Given the description of an element on the screen output the (x, y) to click on. 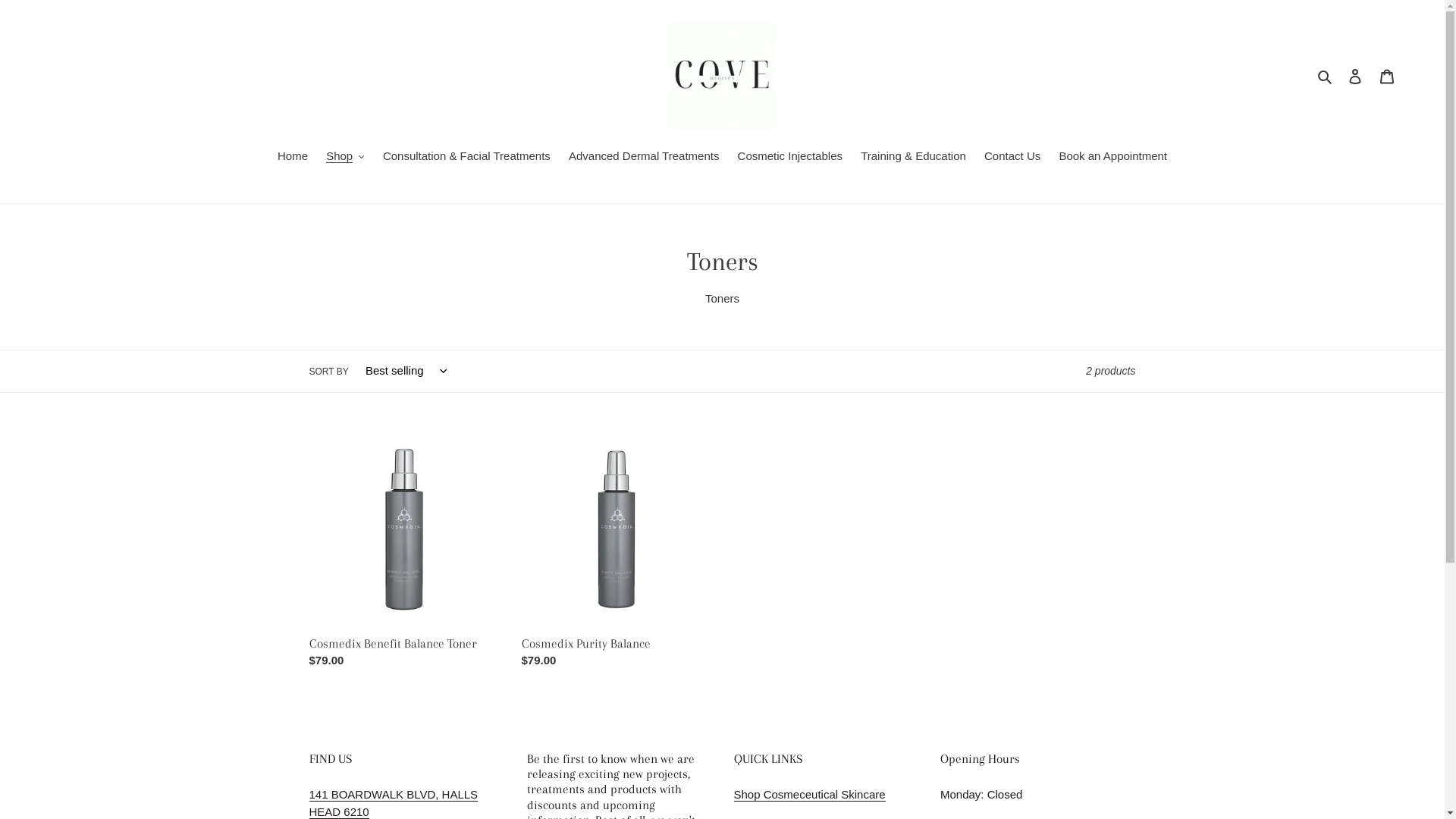
Training & Education Element type: text (913, 157)
Advanced Dermal Treatments Element type: text (643, 157)
Search Element type: text (1325, 75)
Cart Element type: text (1386, 75)
Cosmetic Injectables Element type: text (790, 157)
Home Element type: text (292, 157)
Shop Cosmeceutical Skincare Element type: text (809, 794)
Contact Us Element type: text (1012, 157)
Book an Appointment Element type: text (1112, 157)
Cosmedix Purity Balance Element type: text (616, 553)
Shop Element type: text (345, 157)
Cosmedix Benefit Balance Toner Element type: text (403, 553)
Log in Element type: text (1355, 75)
Consultation & Facial Treatments Element type: text (466, 157)
